Given the description of an element on the screen output the (x, y) to click on. 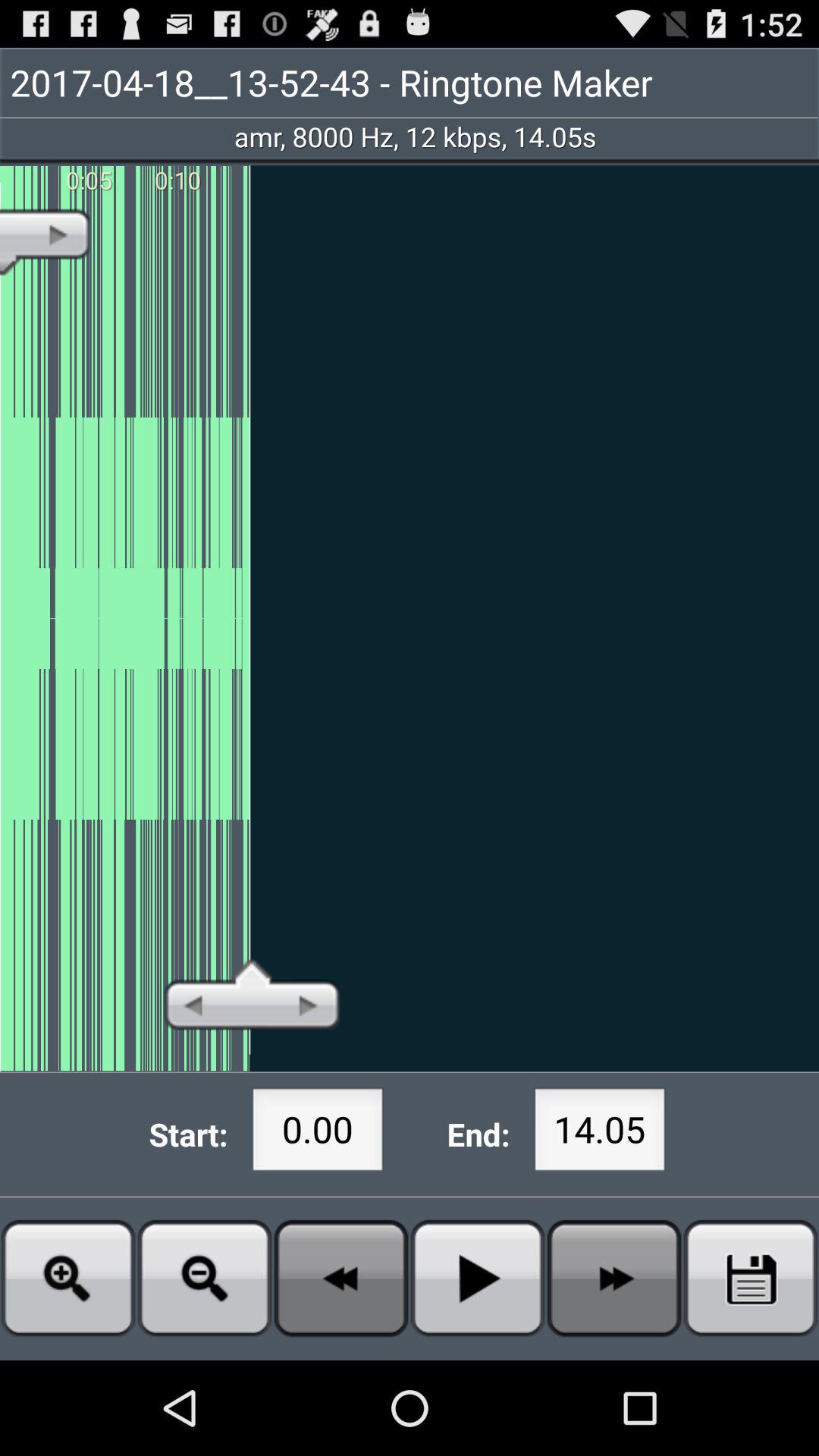
play file (477, 1278)
